Given the description of an element on the screen output the (x, y) to click on. 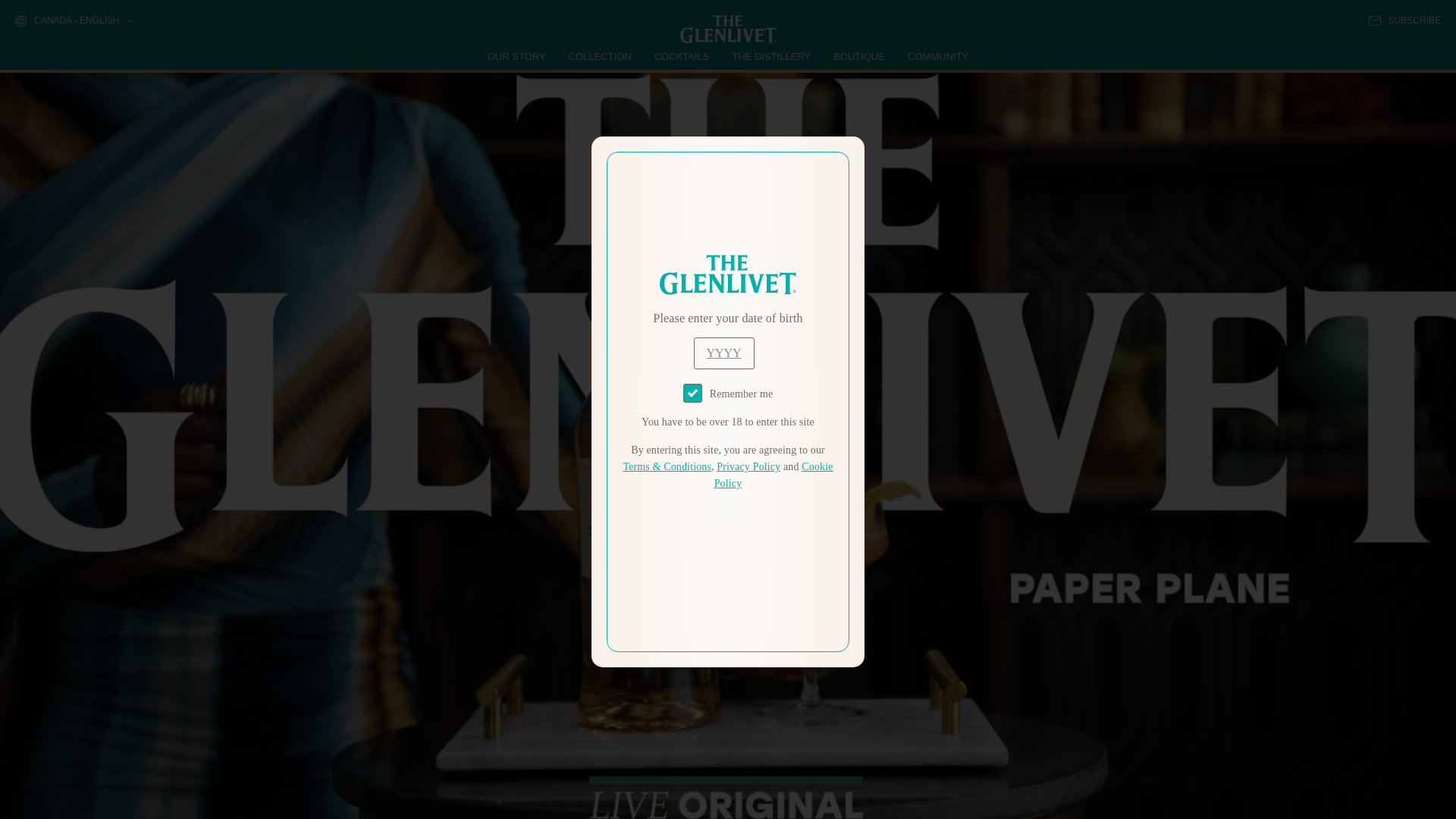
COCKTAILS (681, 56)
SUBSCRIBE (1404, 20)
THE DISTILLERY (771, 56)
year (723, 353)
CANADA - ENGLISH (73, 21)
Privacy Policy (748, 466)
OUR STORY (516, 56)
BOUTIQUE (858, 56)
COLLECTION (600, 56)
COMMUNITY (937, 56)
